Given the description of an element on the screen output the (x, y) to click on. 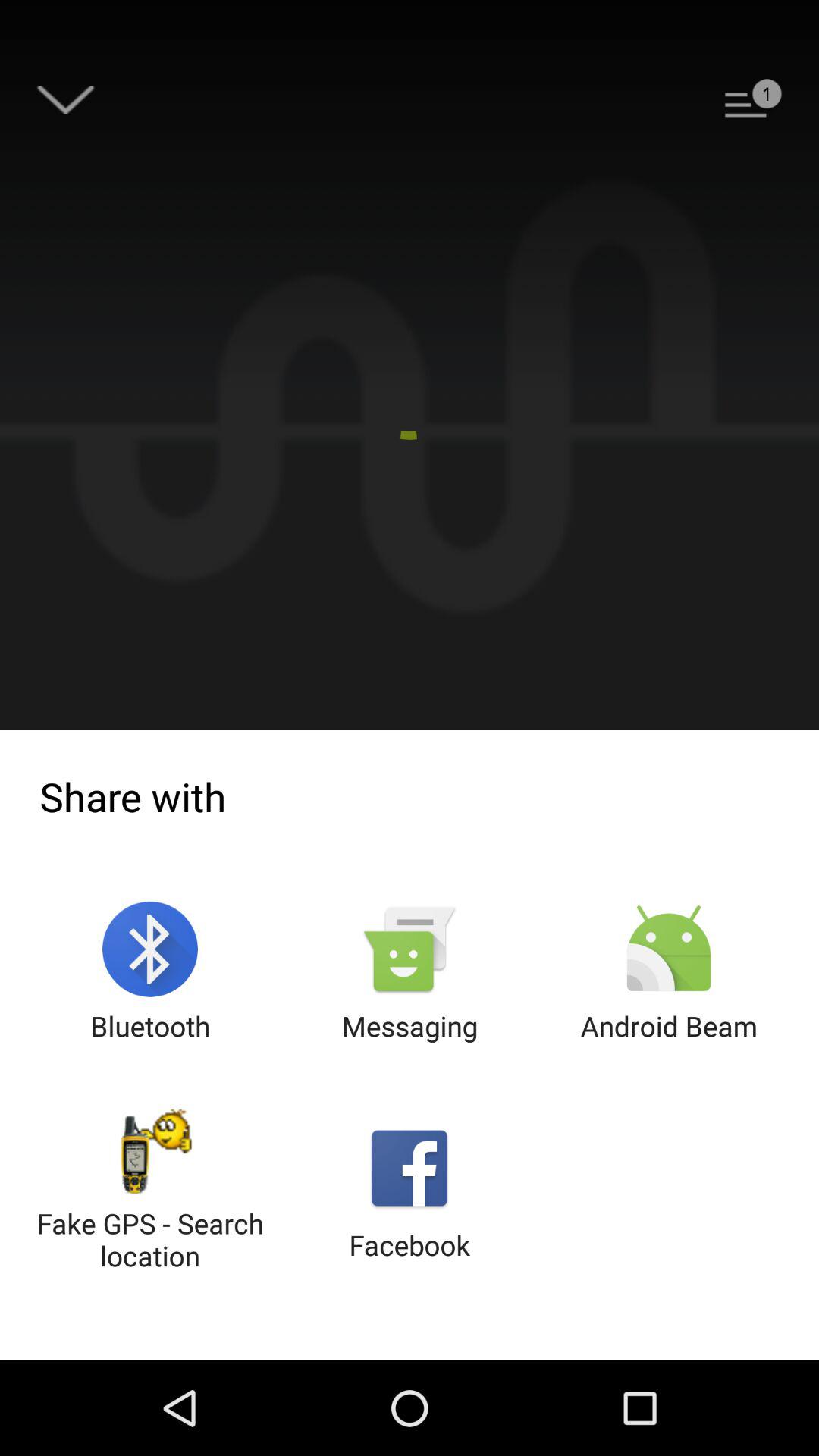
launch icon below bluetooth item (150, 1191)
